Given the description of an element on the screen output the (x, y) to click on. 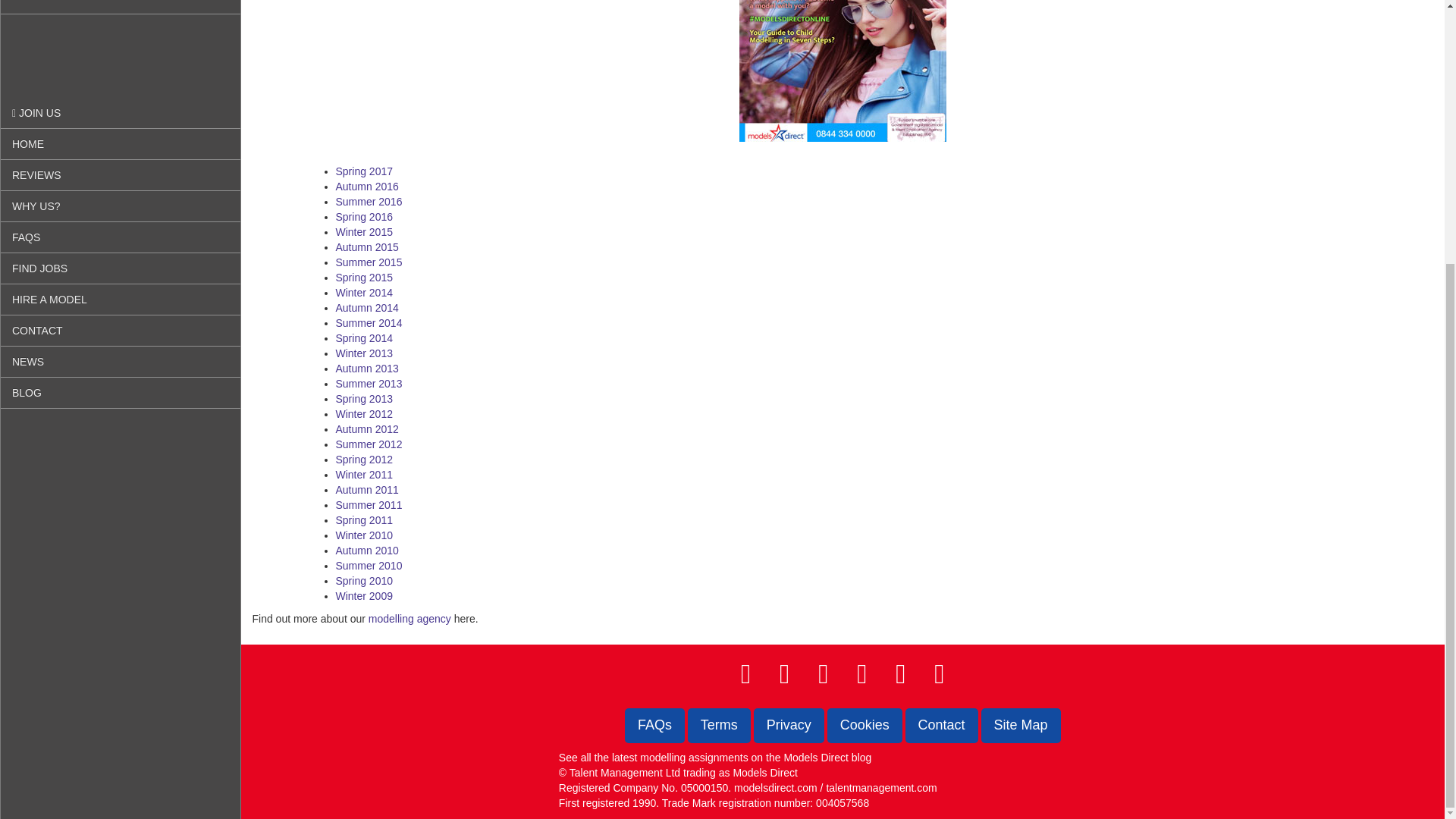
Autumn 2016 (365, 186)
BLOG (120, 14)
Spring 2017 (363, 171)
Spring 2016 (363, 216)
Summer 2016 (367, 201)
Summer 2015 (367, 262)
Autumn 2015 (365, 246)
Spring 2015 (363, 277)
Winter 2015 (362, 232)
